Given the description of an element on the screen output the (x, y) to click on. 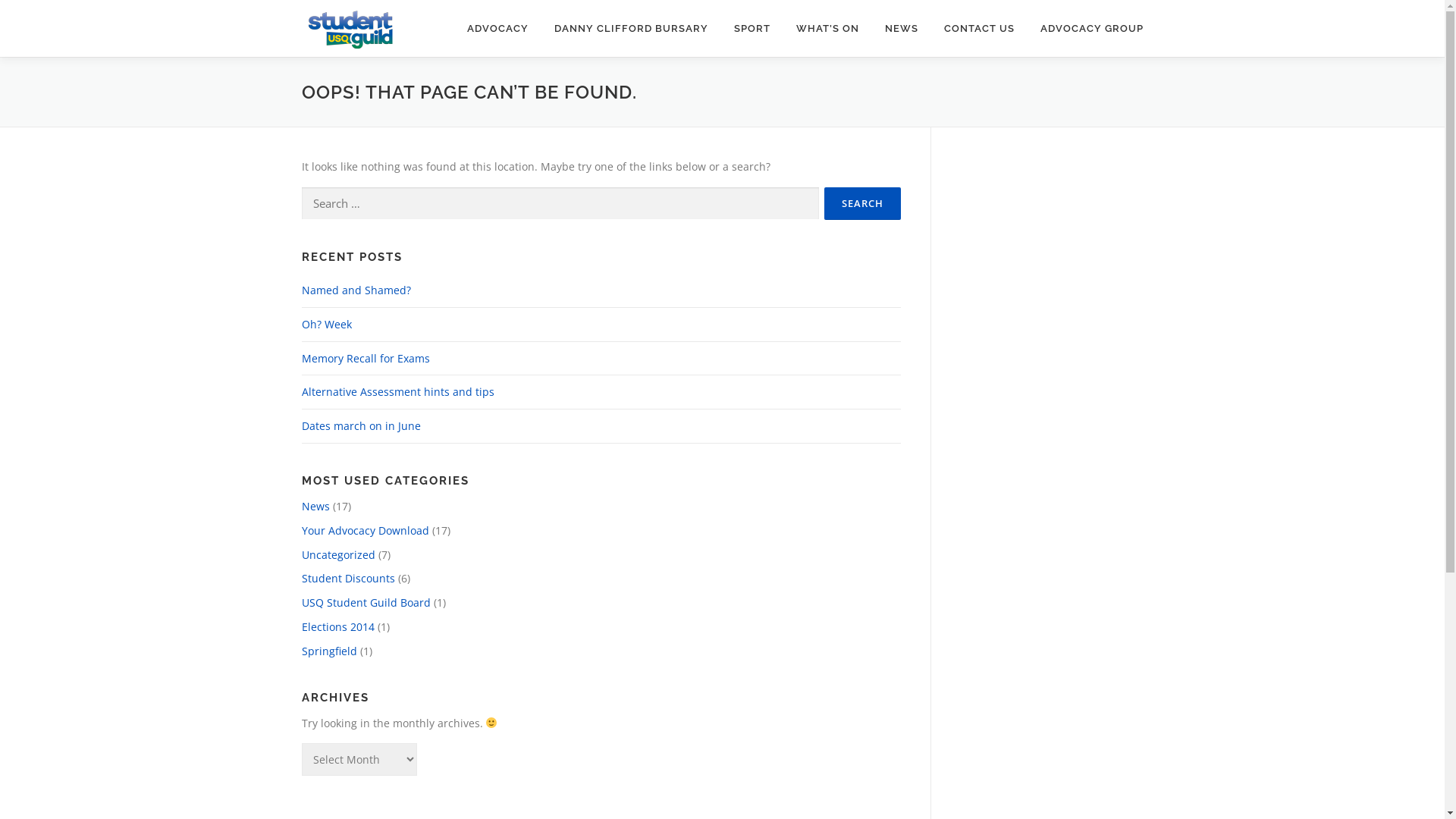
Springfield Element type: text (329, 650)
ADVOCACY GROUP Element type: text (1084, 28)
Student Discounts Element type: text (348, 578)
NEWS Element type: text (901, 28)
Dates march on in June Element type: text (360, 425)
Elections 2014 Element type: text (337, 626)
Search Element type: text (861, 203)
News Element type: text (315, 505)
USQ Student Guild Board Element type: text (365, 602)
ADVOCACY Element type: text (496, 28)
Oh? Week Element type: text (326, 323)
Alternative Assessment hints and tips Element type: text (397, 391)
Uncategorized Element type: text (338, 554)
Named and Shamed? Element type: text (356, 289)
DANNY CLIFFORD BURSARY Element type: text (631, 28)
Memory Recall for Exams Element type: text (365, 358)
SPORT Element type: text (751, 28)
Your Advocacy Download Element type: text (365, 530)
CONTACT US Element type: text (979, 28)
